Given the description of an element on the screen output the (x, y) to click on. 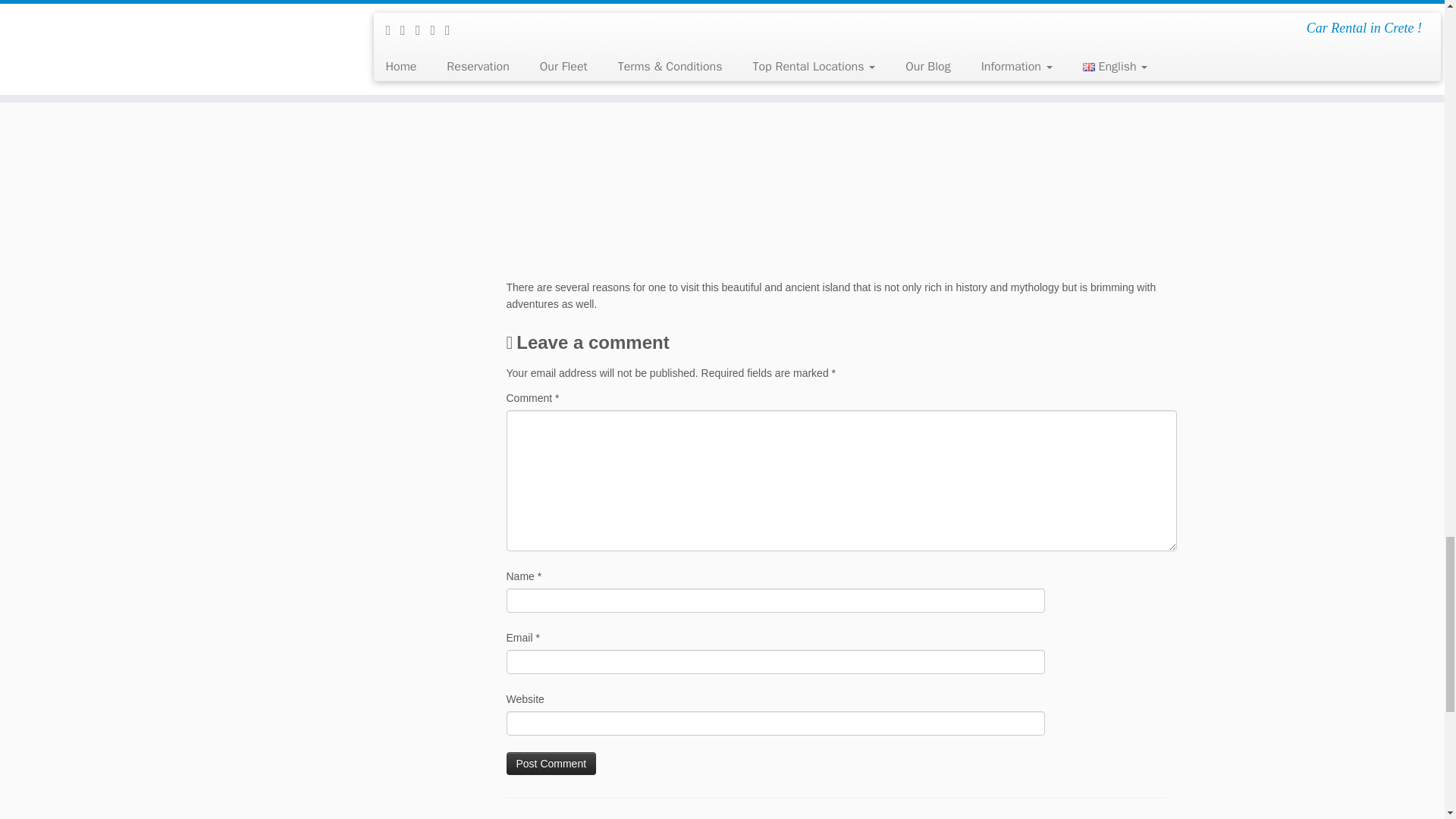
Post Comment (551, 763)
